Given the description of an element on the screen output the (x, y) to click on. 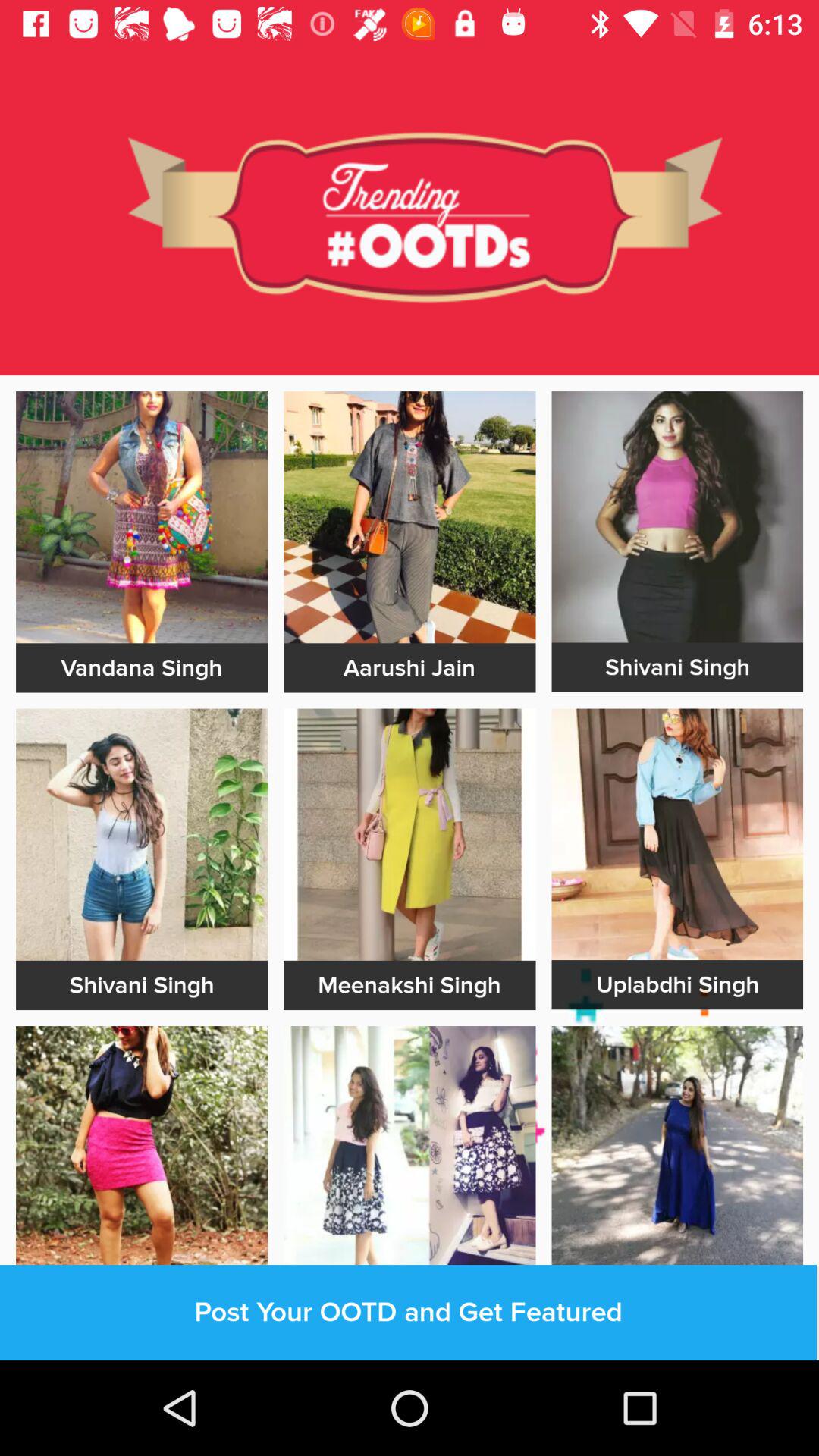
dressing page (677, 834)
